Given the description of an element on the screen output the (x, y) to click on. 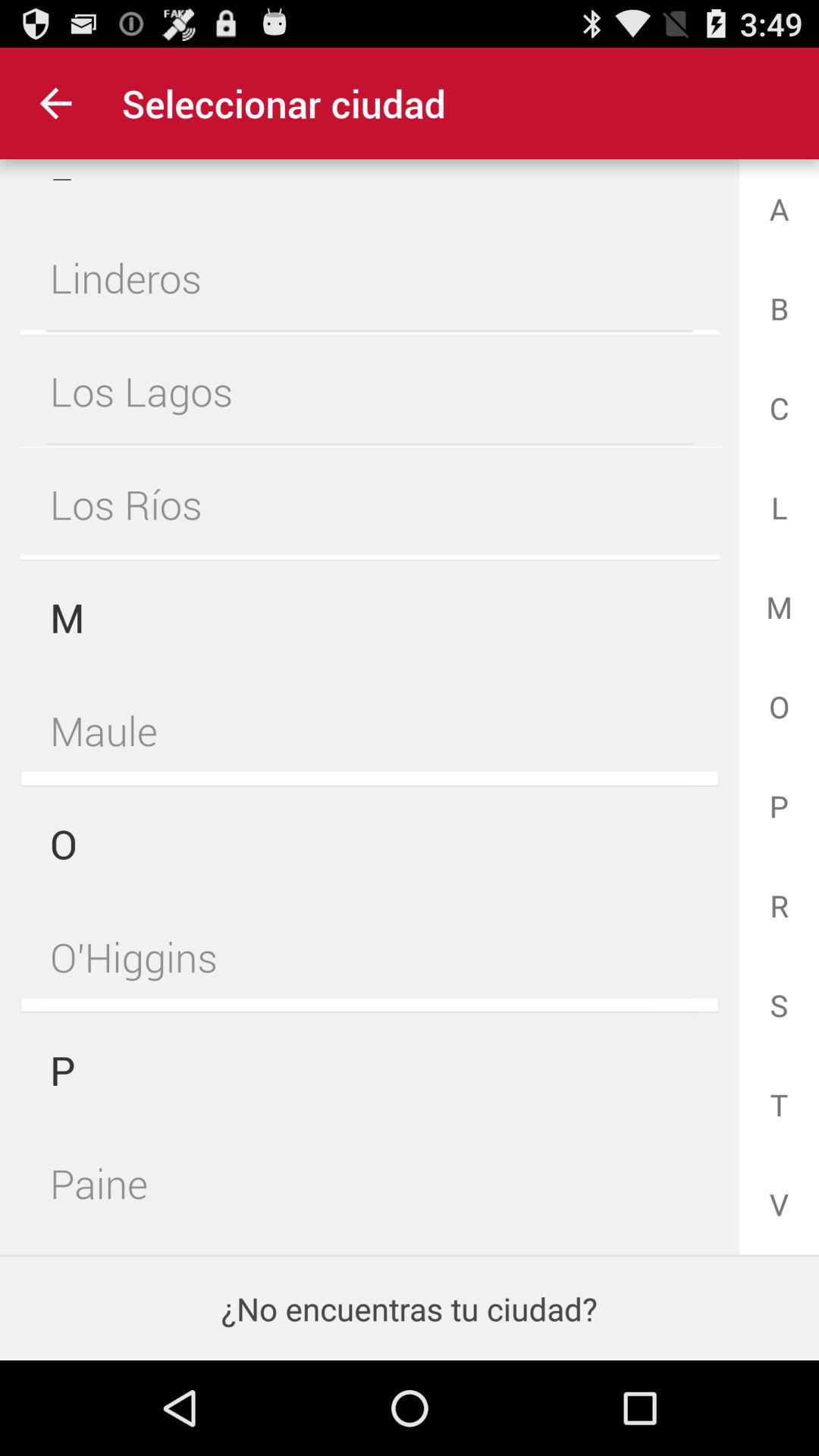
tap icon next to v item (369, 1180)
